Given the description of an element on the screen output the (x, y) to click on. 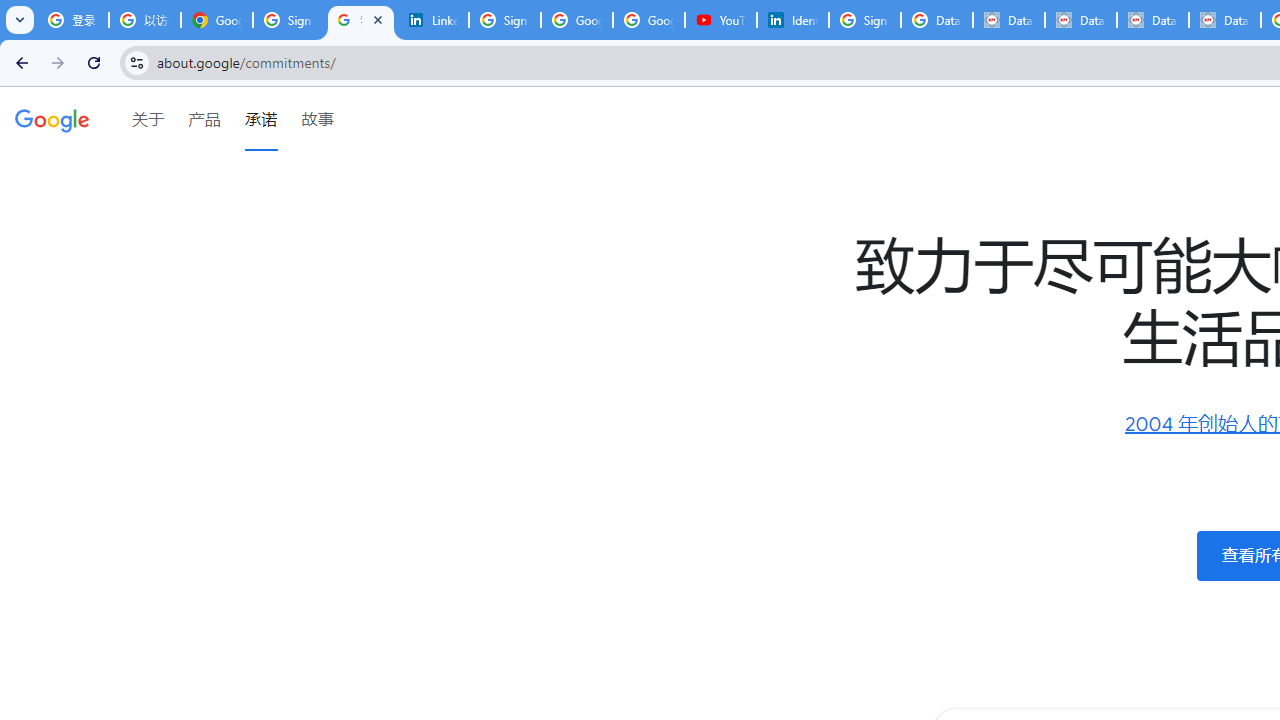
Google (52, 119)
Data Privacy Framework (1008, 20)
Sign in - Google Accounts (504, 20)
Sign in - Google Accounts (865, 20)
Identity verification via Persona | LinkedIn Help (792, 20)
